Given the description of an element on the screen output the (x, y) to click on. 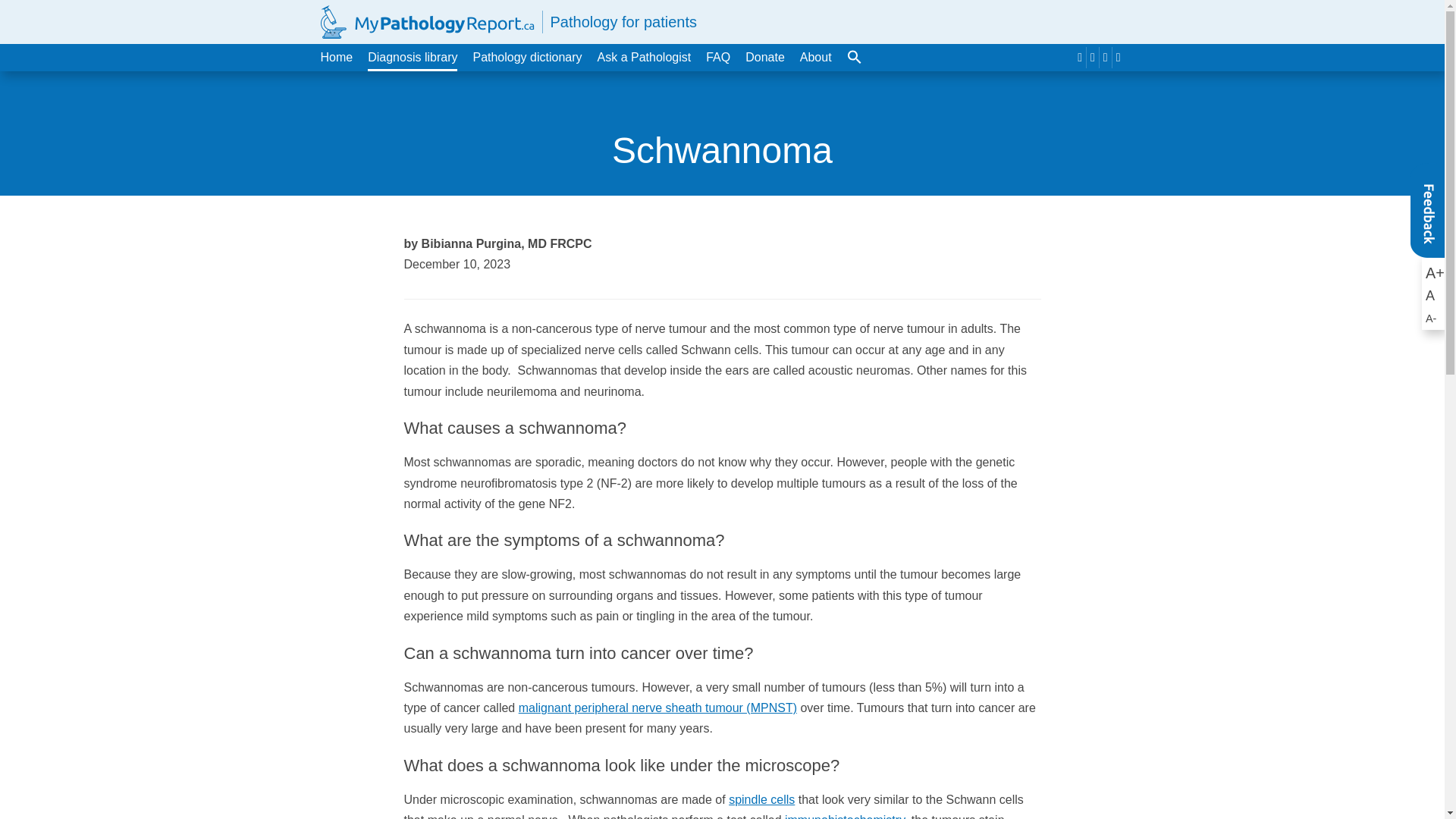
Home (336, 57)
Ask a Pathologist (643, 57)
Diagnosis library (412, 57)
Donate (764, 57)
About (815, 57)
Pathology for patients (507, 21)
immunohistochemistry (844, 816)
Pathology dictionary (525, 57)
spindle cells (761, 799)
